Given the description of an element on the screen output the (x, y) to click on. 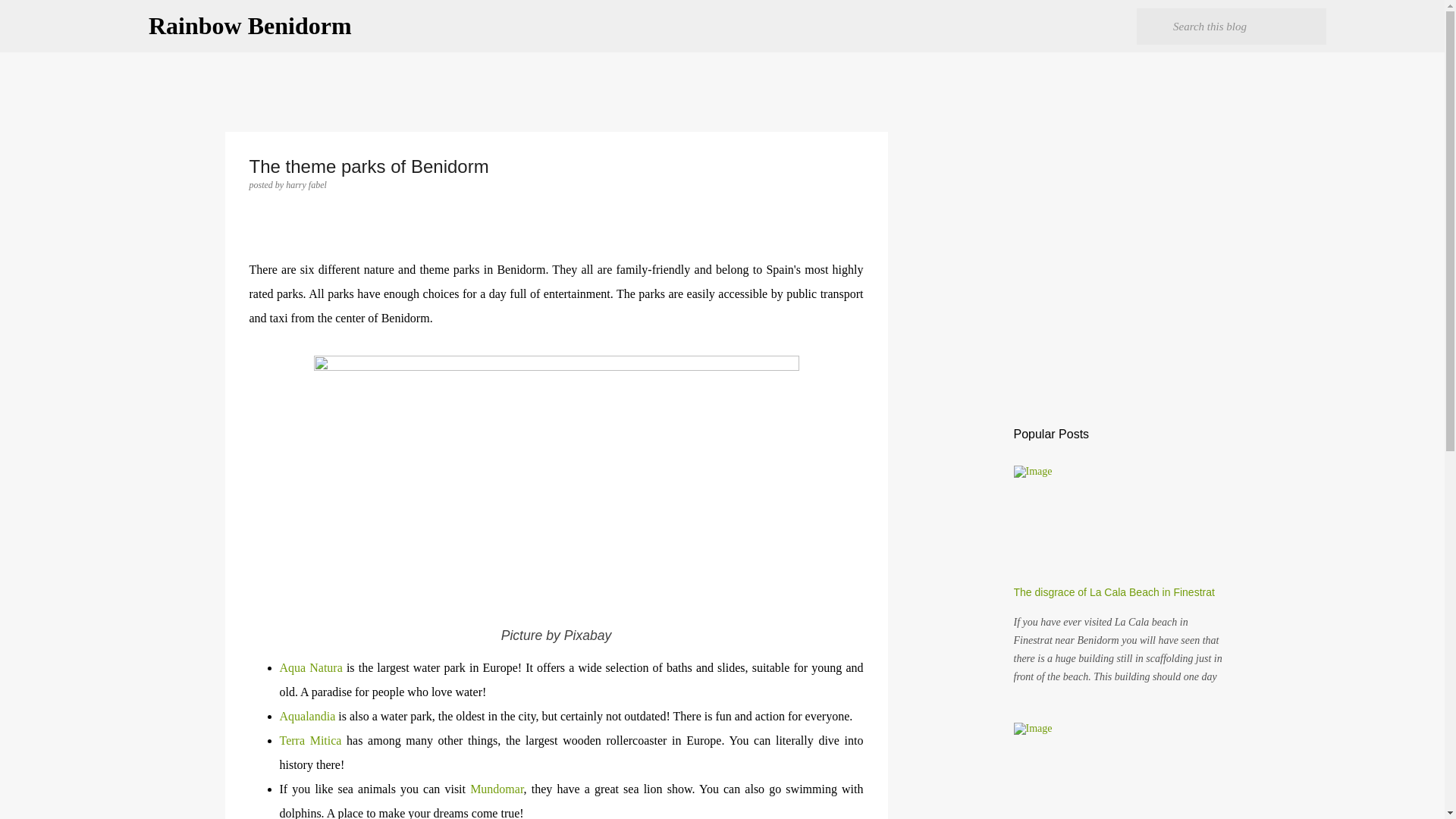
Aqua Natura (310, 667)
The disgrace of La Cala Beach in Finestrat (1113, 592)
Mundomar (496, 788)
Terra Mitica (309, 739)
Aqualandia (306, 716)
Rainbow Benidorm (250, 25)
